Given the description of an element on the screen output the (x, y) to click on. 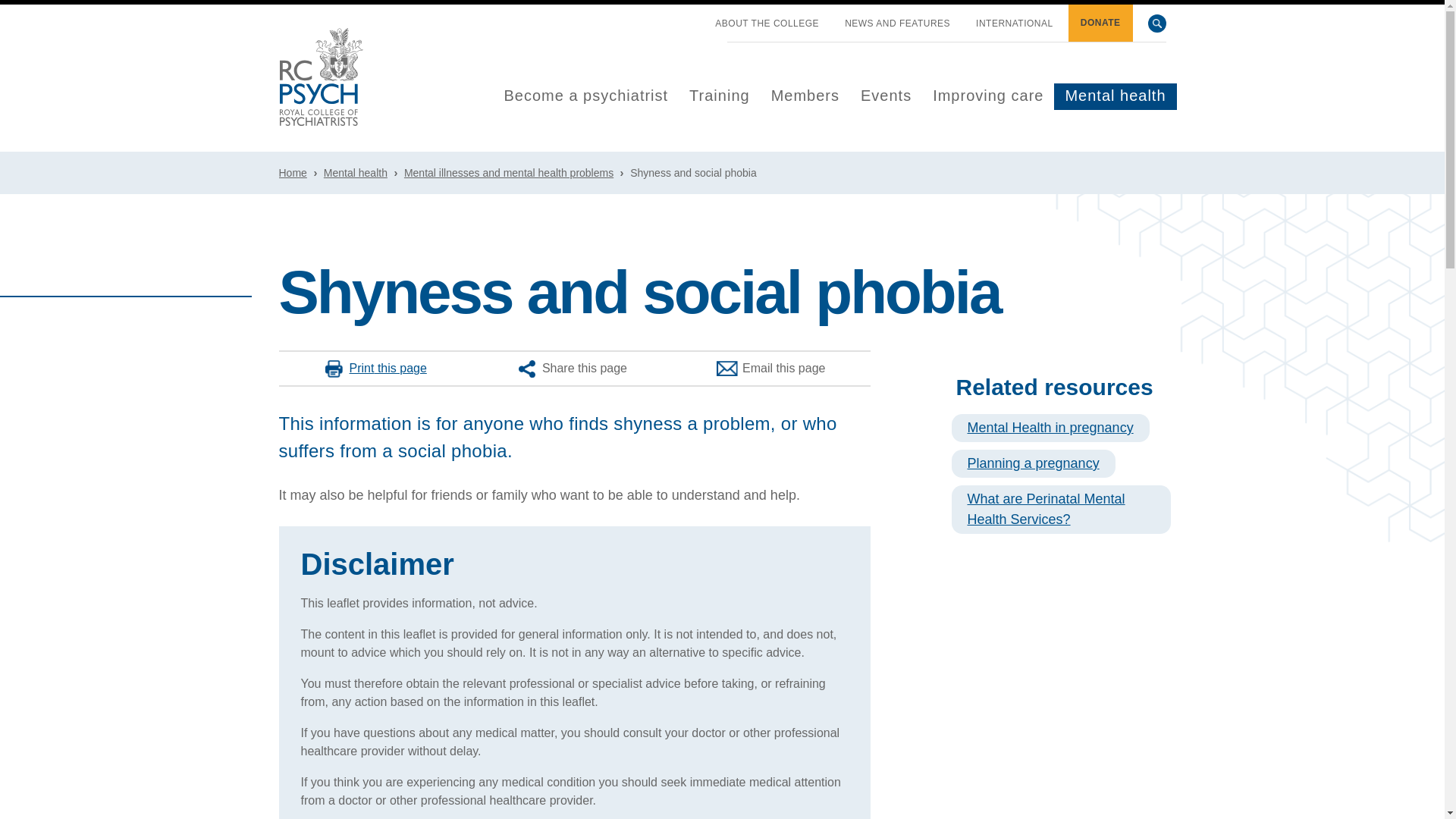
INTERNATIONAL (1014, 23)
ABOUT THE COLLEGE (766, 23)
Become a psychiatrist (585, 96)
Search (1157, 23)
SKIP NAVIGATION (689, 17)
DONATE (1100, 22)
NEWS AND FEATURES (897, 23)
